Given the description of an element on the screen output the (x, y) to click on. 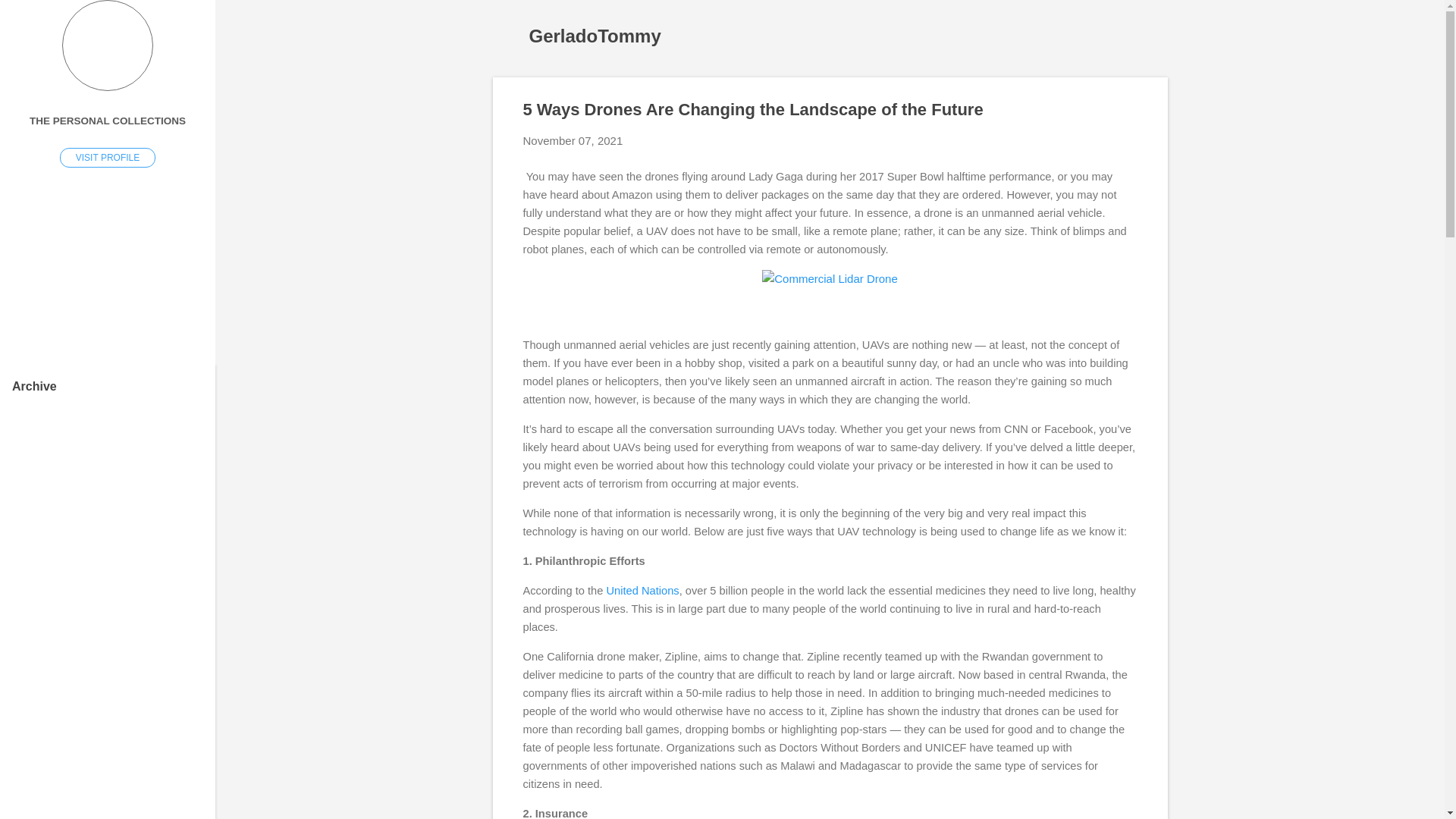
GerladoTommy (595, 35)
THE PERSONAL COLLECTIONS (107, 120)
permanent link (572, 140)
November 07, 2021 (572, 140)
United Nations (643, 590)
VISIT PROFILE (107, 157)
